Given the description of an element on the screen output the (x, y) to click on. 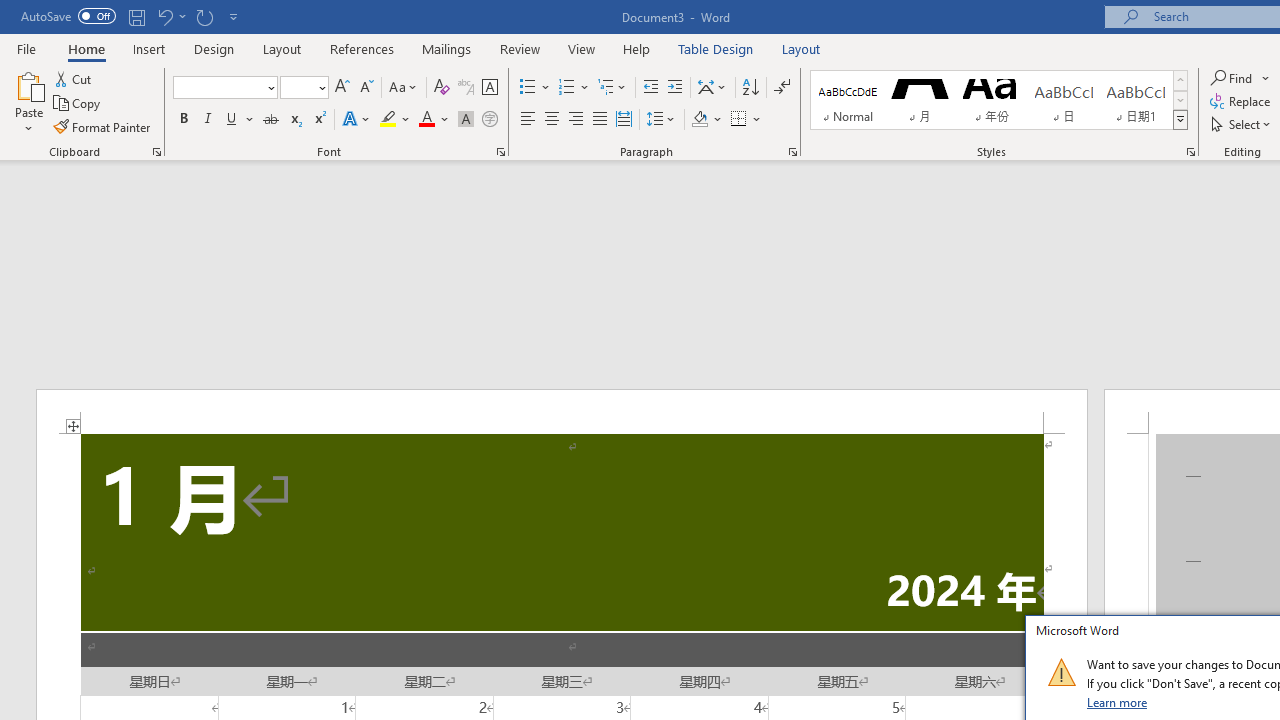
Office Clipboard... (156, 151)
Subscript (294, 119)
Grow Font (342, 87)
Text Highlight Color Yellow (388, 119)
Increase Indent (675, 87)
Center (552, 119)
Font Color (434, 119)
Align Left (527, 119)
